Given the description of an element on the screen output the (x, y) to click on. 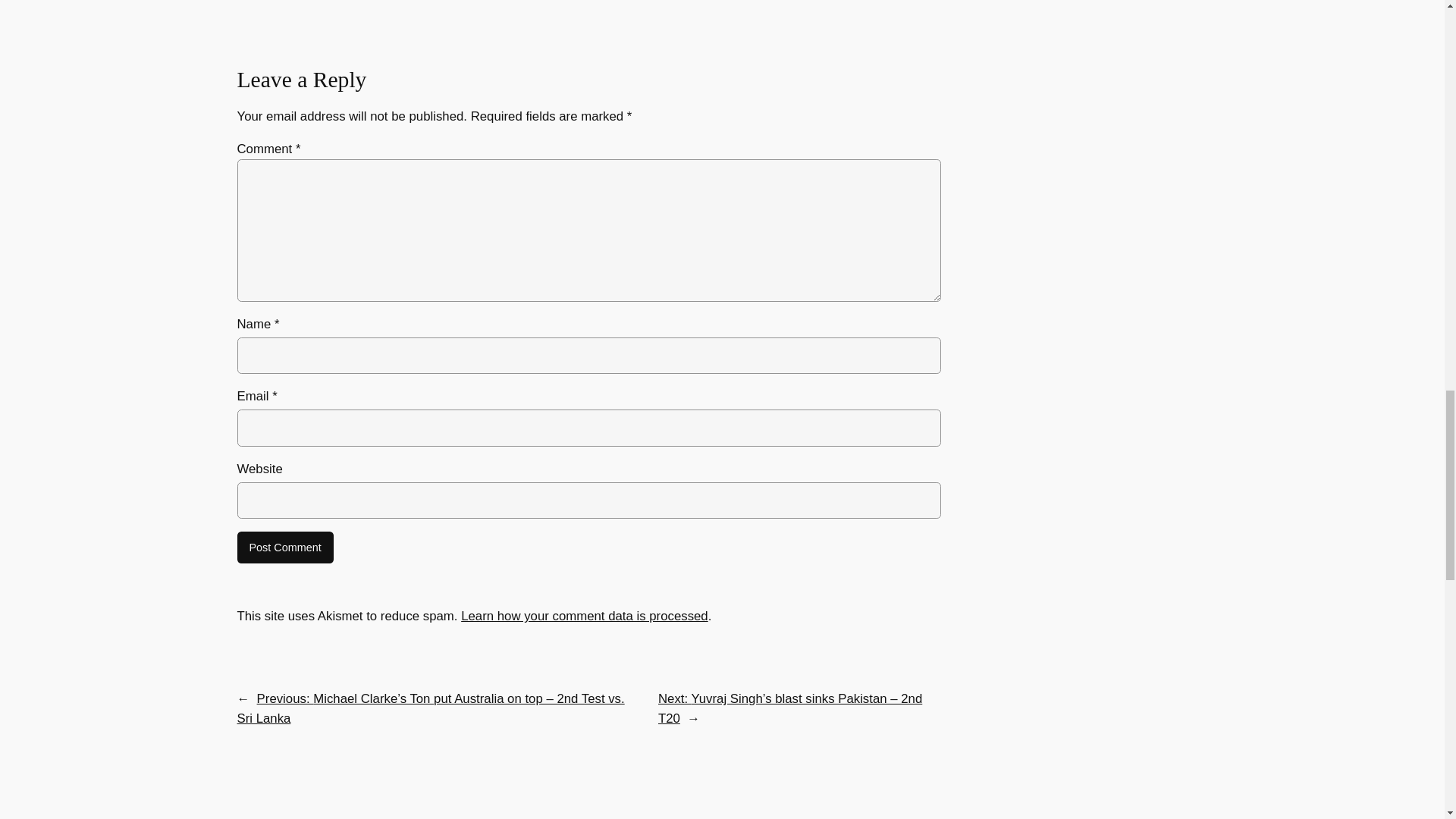
Learn how your comment data is processed (584, 616)
Post Comment (284, 547)
Post Comment (284, 547)
